Given the description of an element on the screen output the (x, y) to click on. 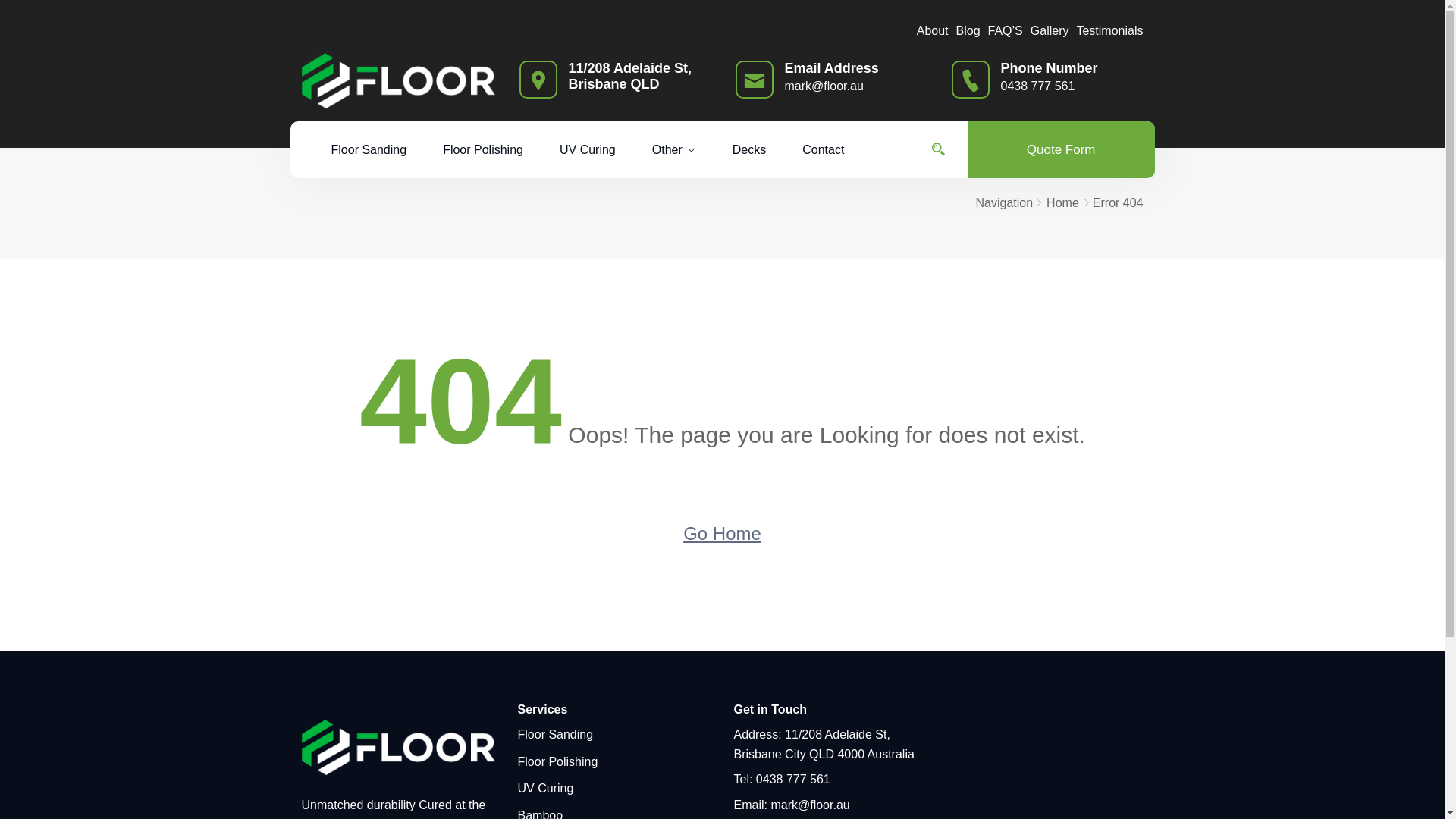
Floor Sanding Element type: text (368, 150)
Floor Polishing Element type: text (557, 761)
UV Curing Element type: text (545, 787)
Floor Polishing Element type: text (482, 150)
Quote Form Element type: text (1060, 149)
Blog Element type: text (968, 30)
UV Curing Element type: text (587, 150)
0438 777 561 Element type: text (1038, 85)
Contact Element type: text (823, 150)
Testimonials Element type: text (1109, 30)
mark@floor.au Element type: text (823, 85)
Other Element type: text (674, 150)
Decks Element type: text (748, 150)
Home Element type: text (1062, 202)
Floor Sanding Element type: text (555, 734)
Go Home Element type: text (722, 533)
Gallery Element type: text (1049, 30)
About Element type: text (932, 30)
